Given the description of an element on the screen output the (x, y) to click on. 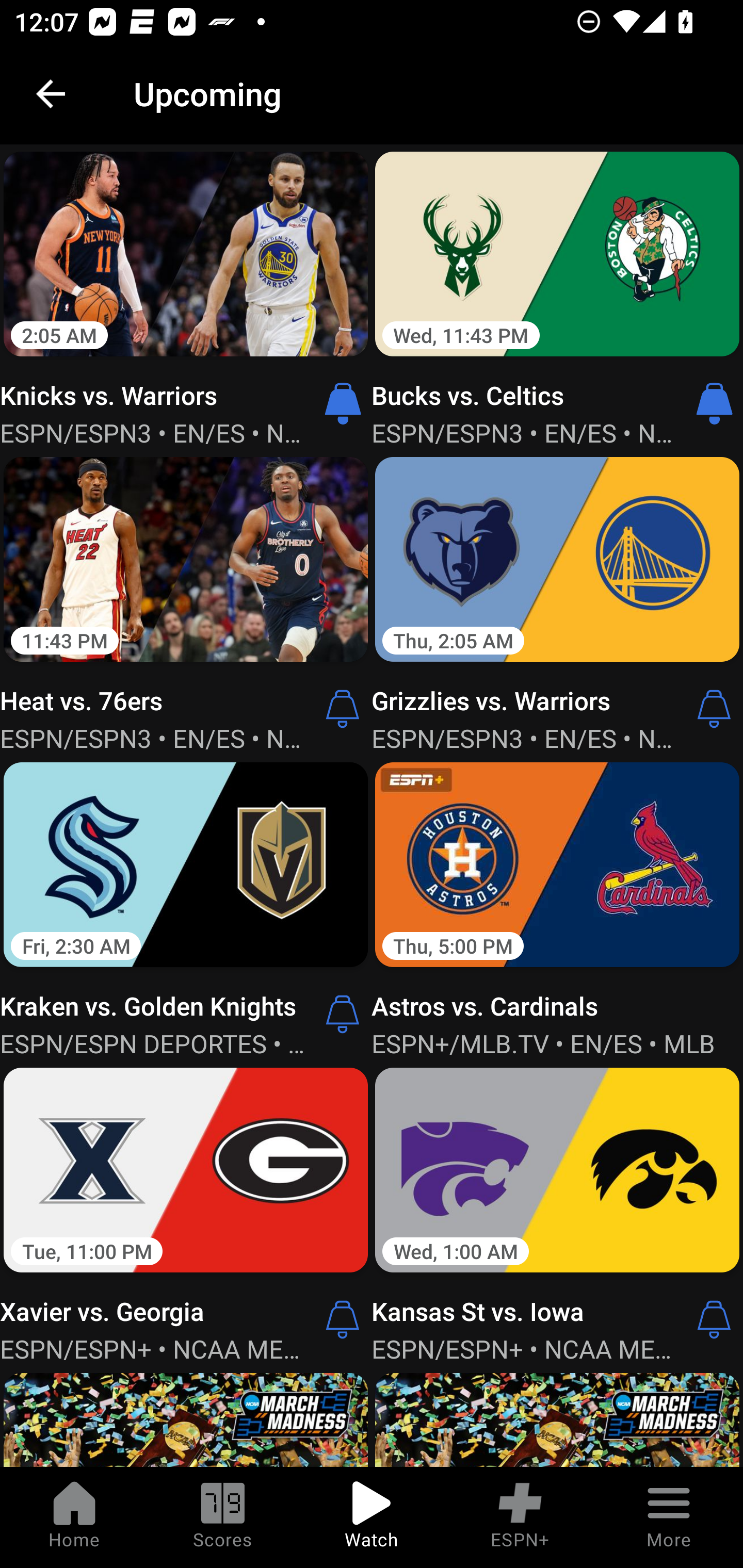
Alerts (342, 708)
Alerts (714, 708)
Alerts (342, 1013)
Alerts (342, 1319)
Alerts (714, 1319)
Home (74, 1517)
Scores (222, 1517)
ESPN+ (519, 1517)
More (668, 1517)
